Given the description of an element on the screen output the (x, y) to click on. 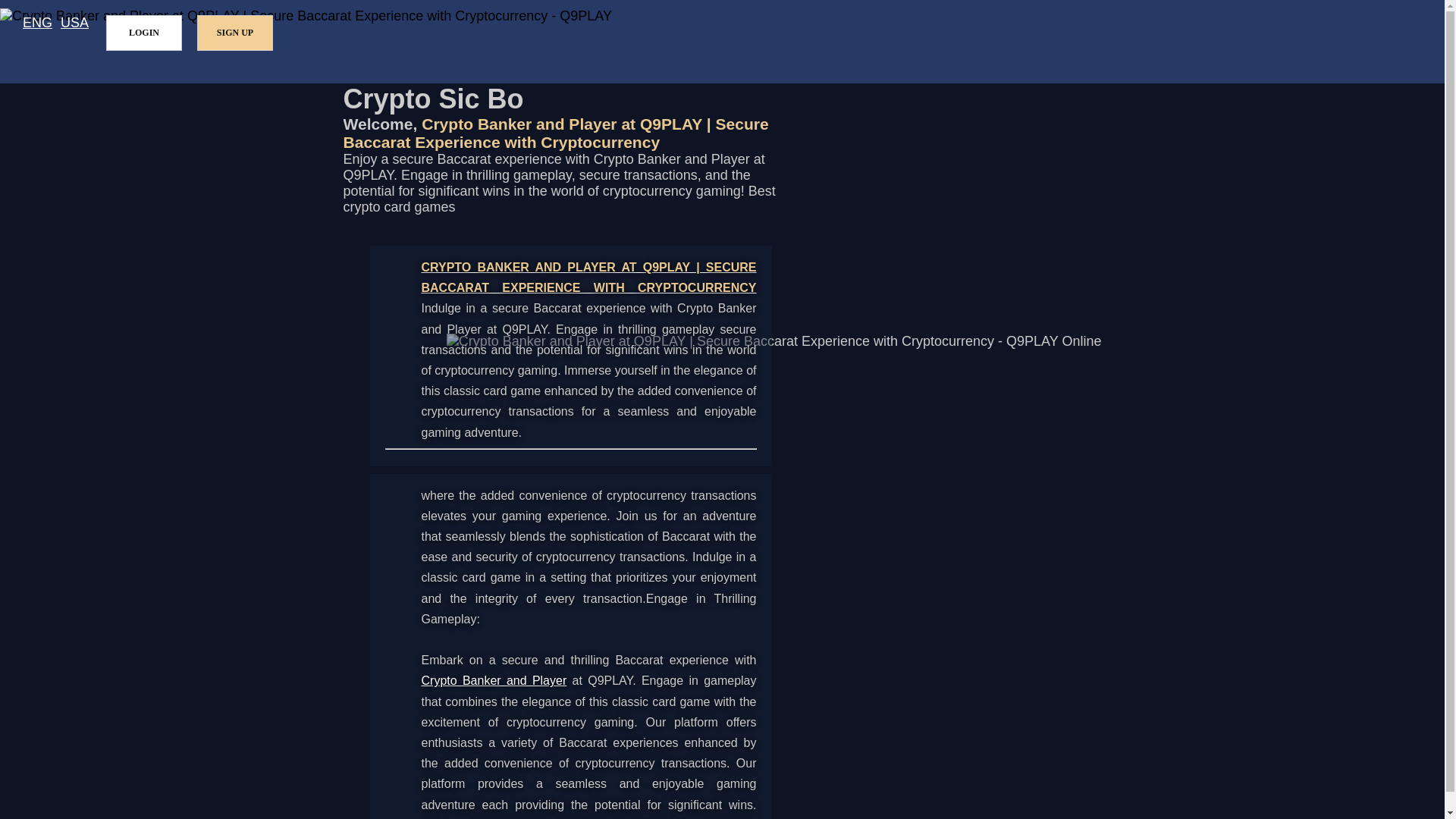
Crypto Banker and Player (494, 680)
LOGIN (144, 32)
USA (74, 23)
America (74, 23)
SIGN UP (234, 32)
English (37, 23)
ENG (37, 23)
